Given the description of an element on the screen output the (x, y) to click on. 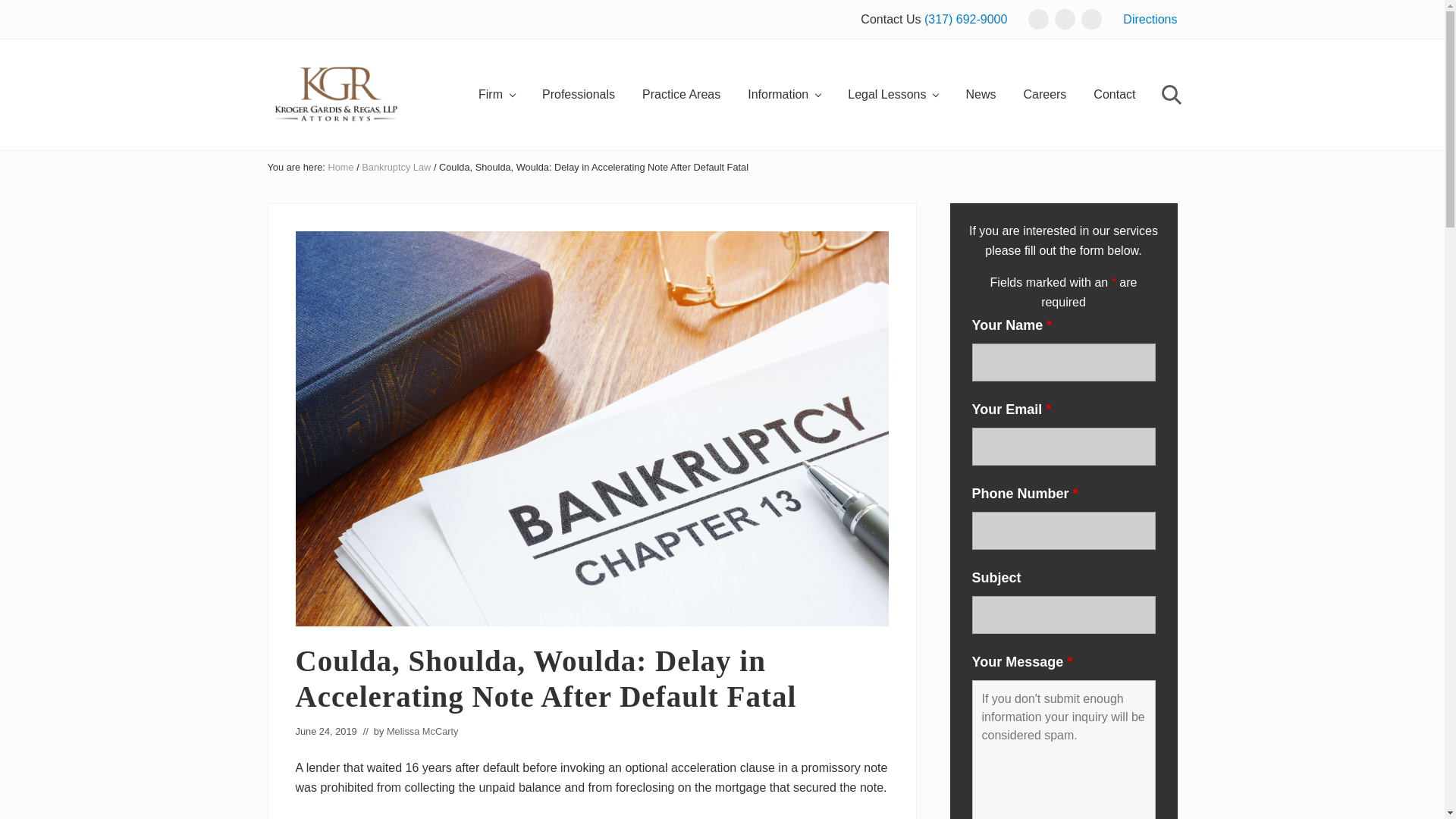
Twitter (1064, 19)
Firm (496, 95)
News (980, 95)
Directions (1149, 19)
Facebook (1037, 19)
Information (783, 95)
LinkedIn (1091, 19)
Search (1169, 95)
Professionals (578, 95)
Practice Areas (681, 95)
LinkedIn (1091, 19)
Twitter (1064, 19)
Contact (1114, 95)
Facebook (1037, 19)
